Given the description of an element on the screen output the (x, y) to click on. 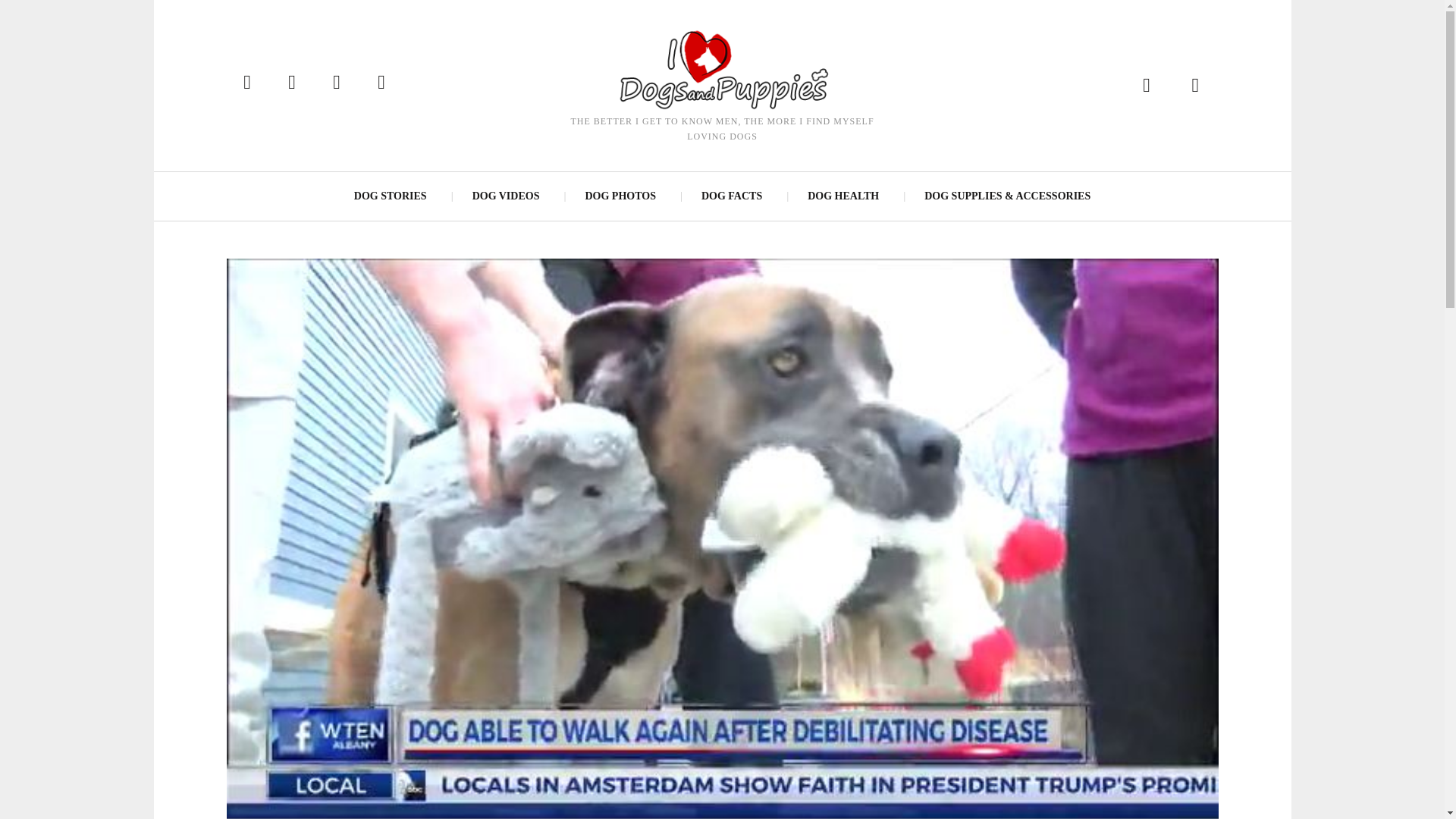
DOG STORIES (390, 195)
DOG HEALTH (842, 195)
DOG PHOTOS (619, 195)
ILoveDogsAndPuppies (721, 68)
DOG VIDEOS (505, 195)
DOG FACTS (731, 195)
